Given the description of an element on the screen output the (x, y) to click on. 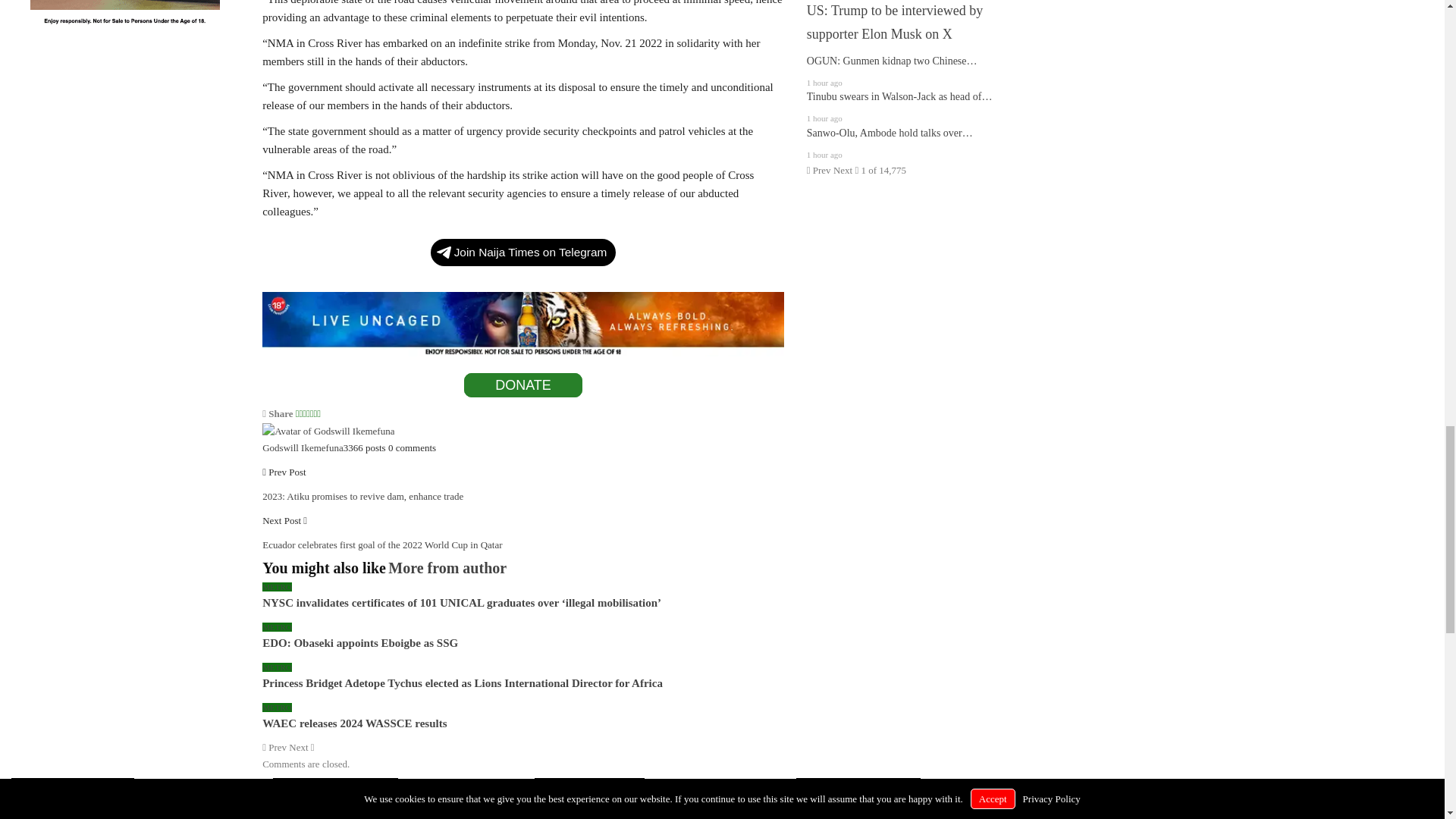
Browse Author Articles (328, 430)
Previous (275, 747)
Next (301, 747)
EDO: Obaseki appoints Eboigbe as SSG (360, 643)
WAEC releases 2024 WASSCE results (354, 723)
